Given the description of an element on the screen output the (x, y) to click on. 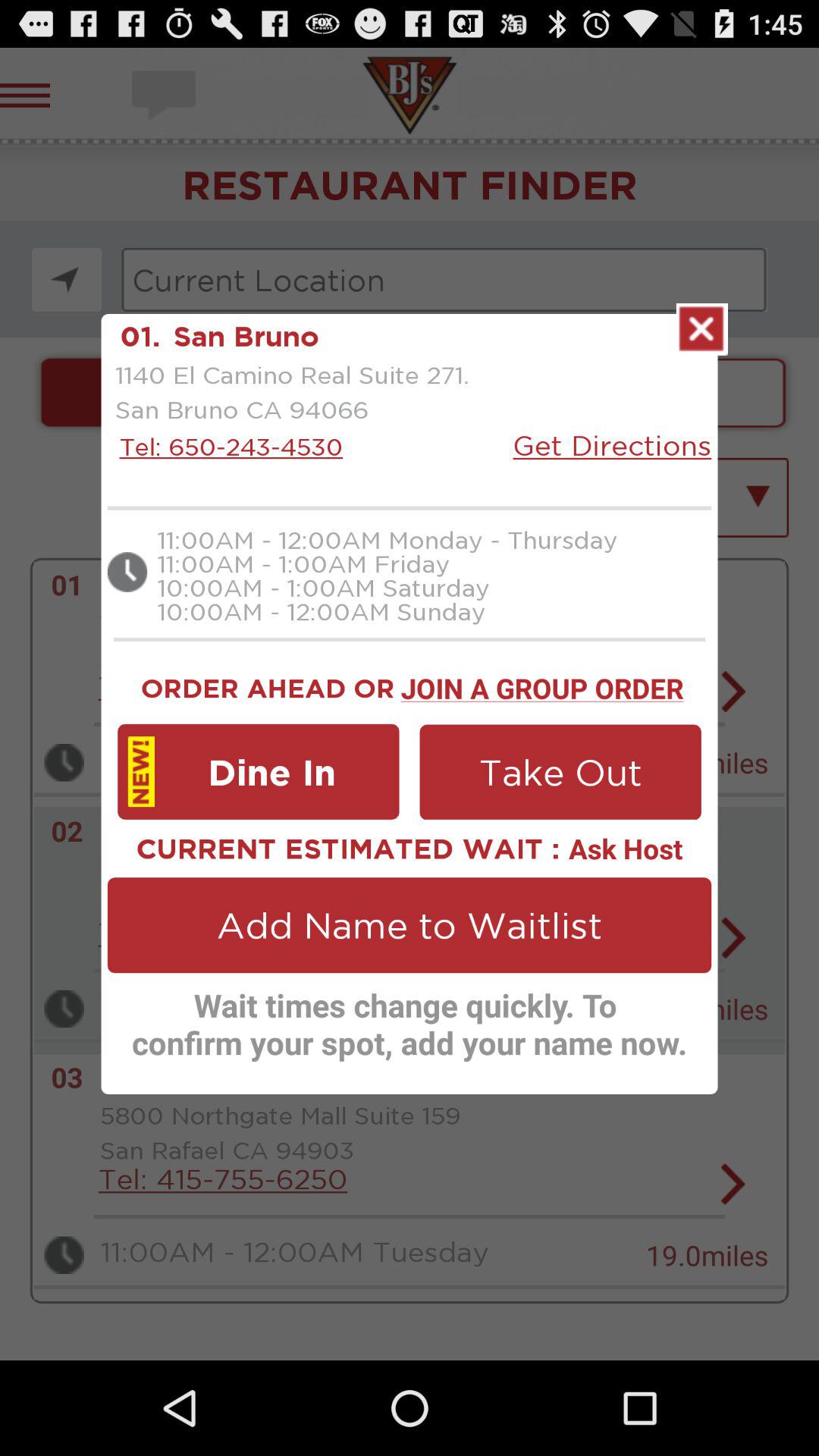
press app below the 1140 el camino (226, 446)
